Given the description of an element on the screen output the (x, y) to click on. 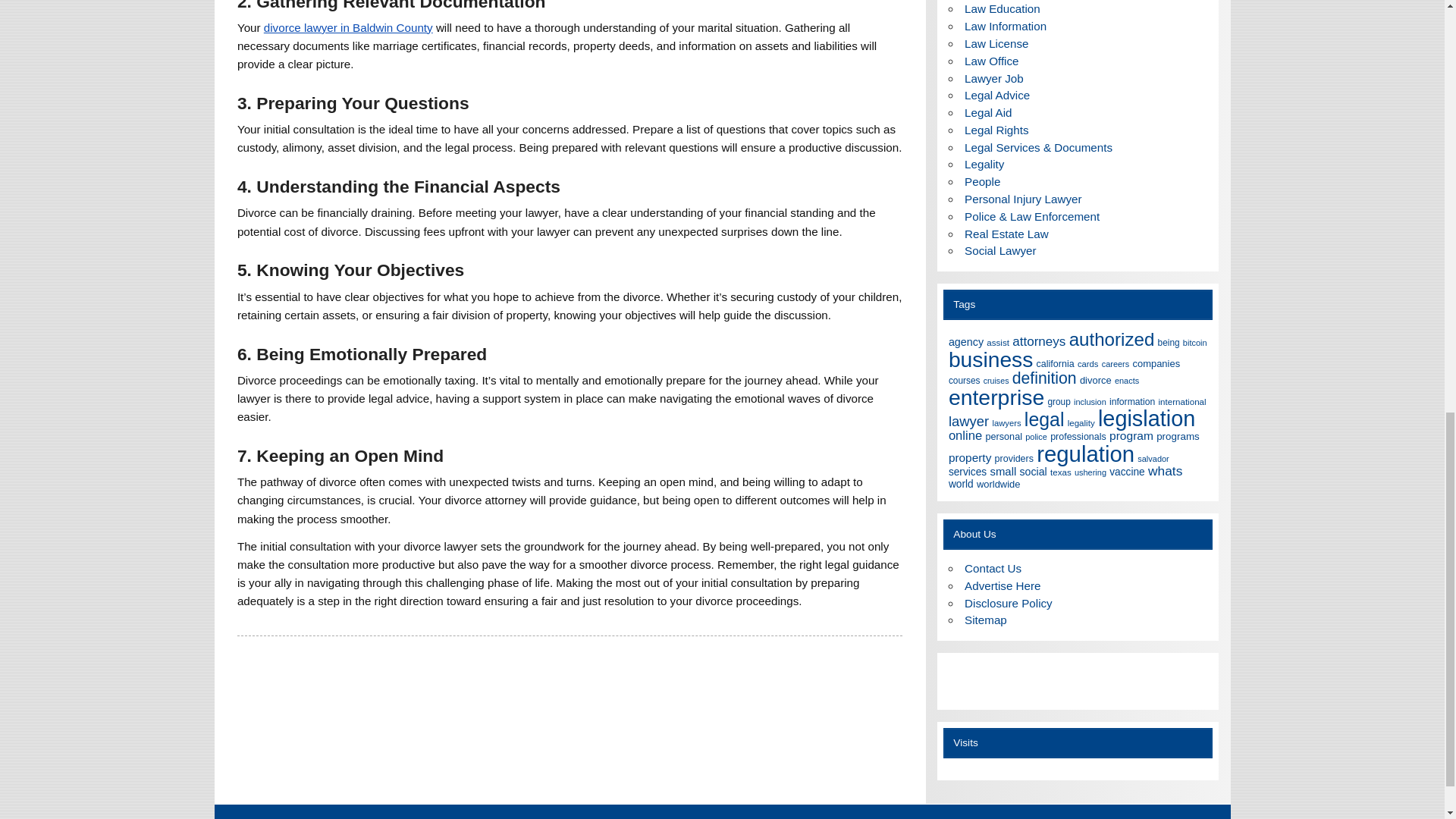
divorce lawyer in Baldwin County (347, 27)
